Given the description of an element on the screen output the (x, y) to click on. 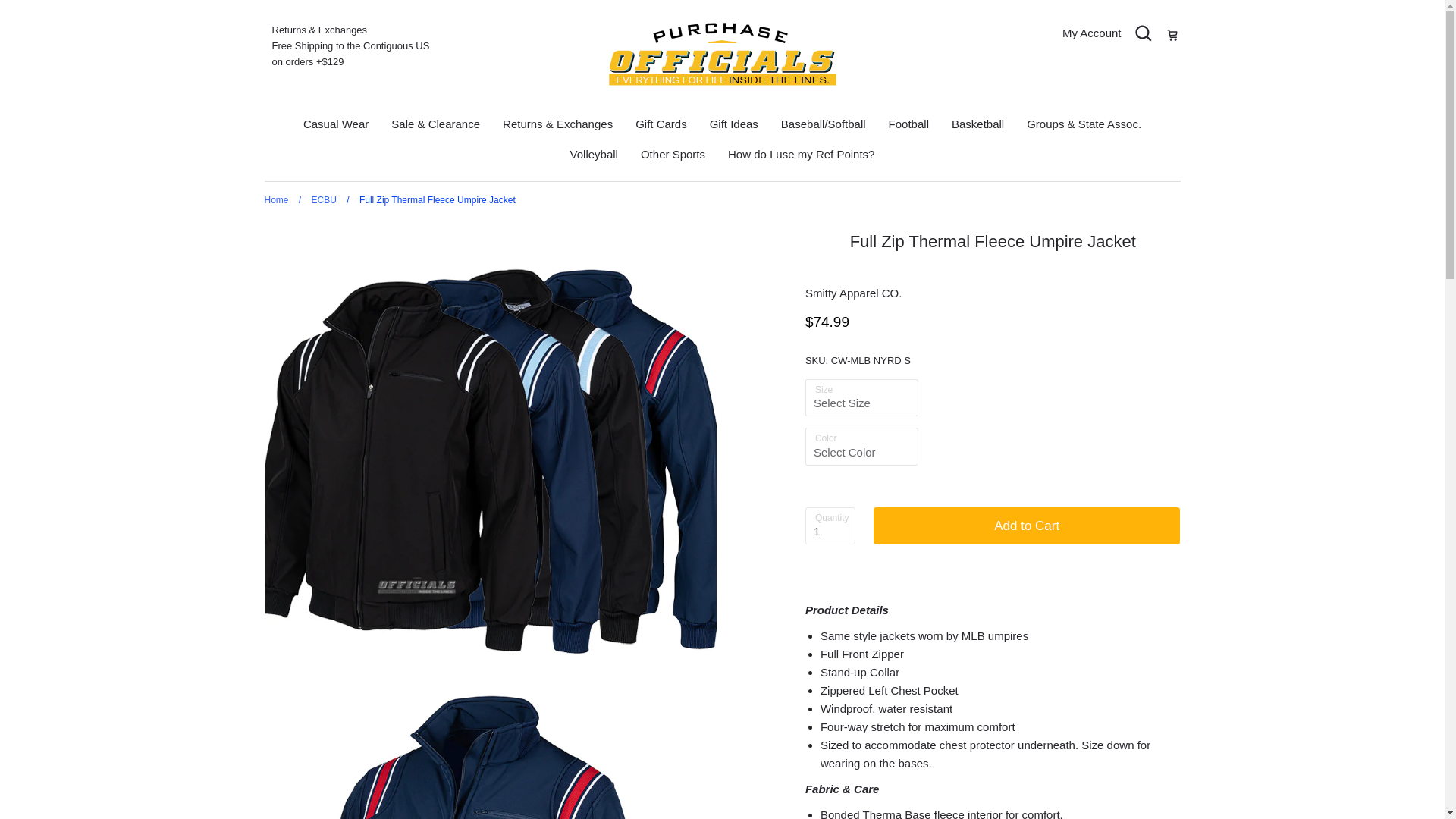
Search (1142, 32)
Casual Wear (335, 123)
Cart (1171, 33)
Gift Cards (660, 123)
Gift Ideas (734, 123)
